Given the description of an element on the screen output the (x, y) to click on. 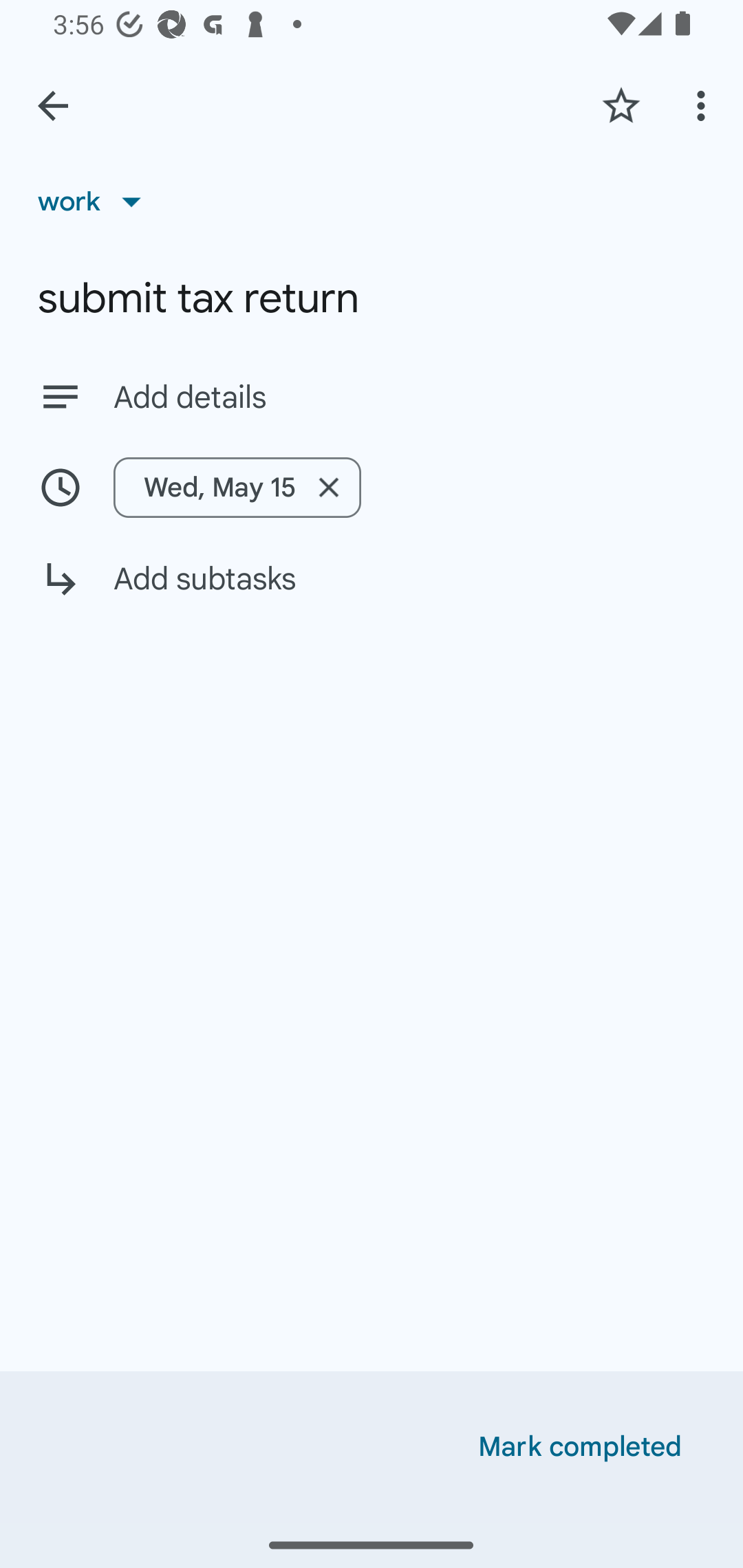
Back (53, 105)
Add star (620, 105)
More options (704, 105)
work List, work selected, 1 of 11 (95, 201)
submit tax return (371, 298)
Add details (371, 396)
Add details (409, 397)
Wed, May 15 Remove date/time (371, 487)
Wed, May 15 Remove date/time (237, 487)
Add subtasks (371, 593)
Mark completed (580, 1446)
